Given the description of an element on the screen output the (x, y) to click on. 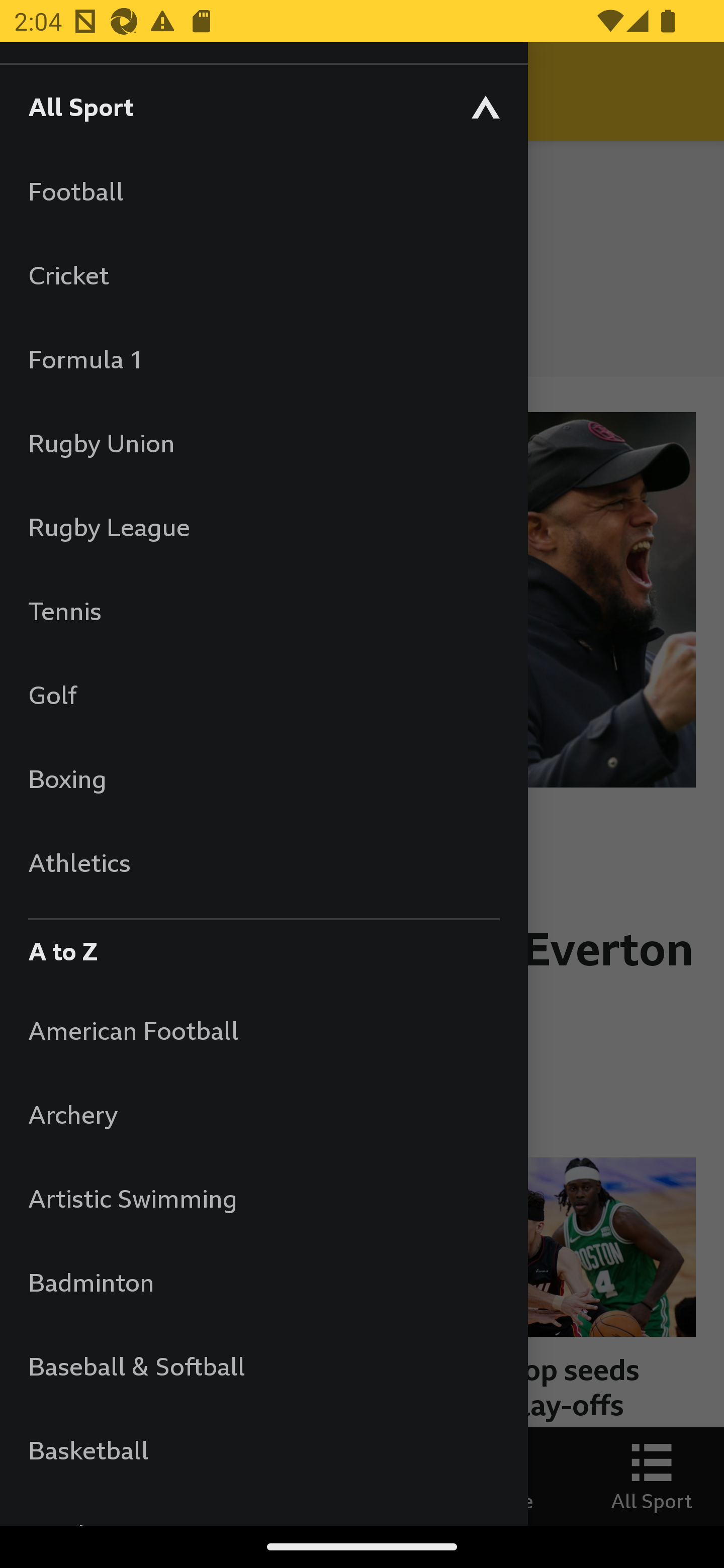
All Sport (263, 105)
Football (263, 190)
Cricket (263, 274)
Formula 1 (263, 358)
Rugby Union (263, 441)
Rugby League (263, 526)
Tennis (263, 609)
Golf (263, 694)
Boxing (263, 778)
Athletics (263, 862)
A to Z (263, 945)
American Football (263, 1029)
Archery (263, 1114)
Artistic Swimming (263, 1197)
Badminton (263, 1282)
Baseball & Softball (263, 1365)
Basketball (263, 1450)
